Given the description of an element on the screen output the (x, y) to click on. 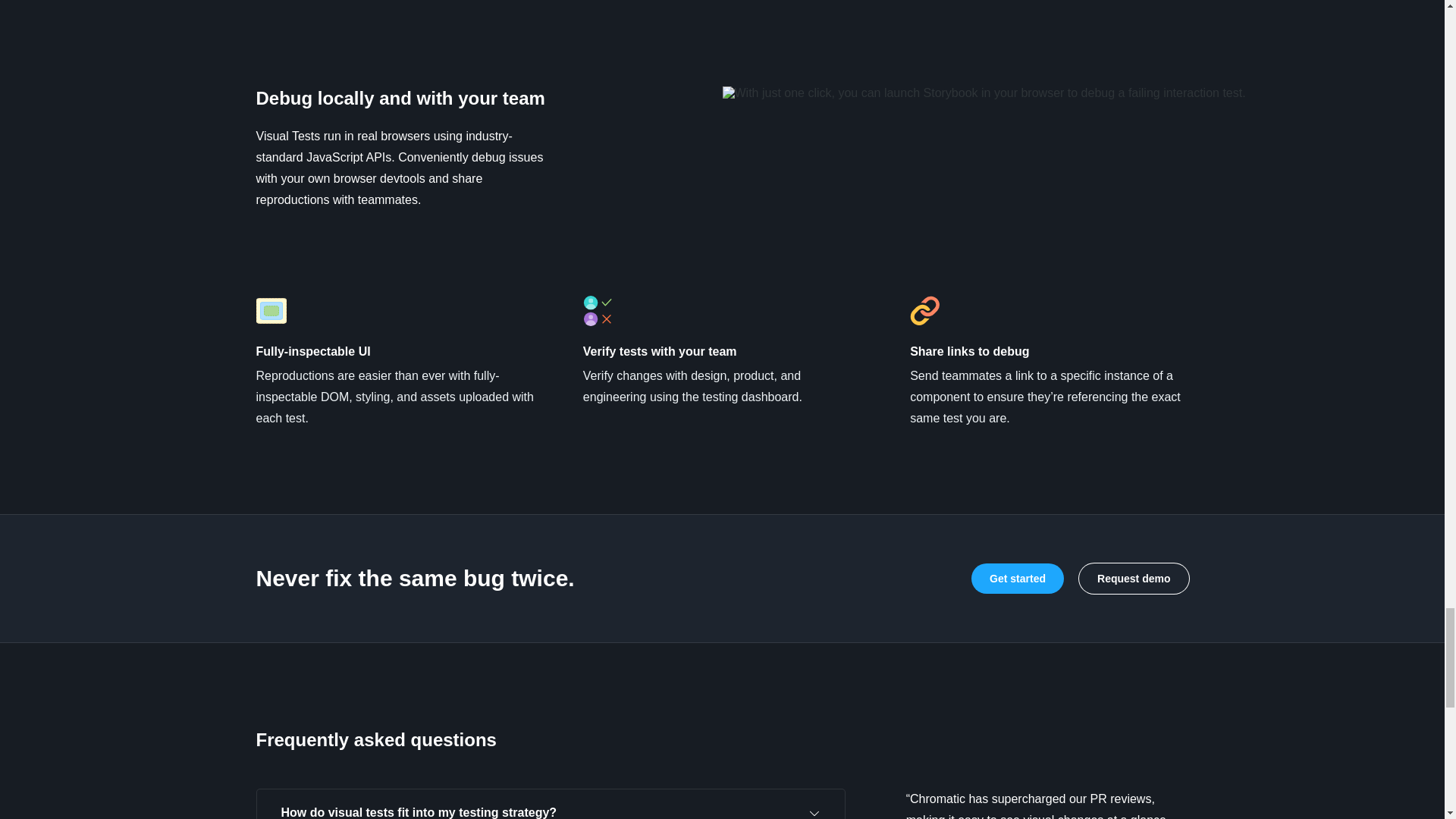
Request demo (1133, 578)
Get started (1017, 578)
How do visual tests fit into my testing strategy? (550, 804)
